Given the description of an element on the screen output the (x, y) to click on. 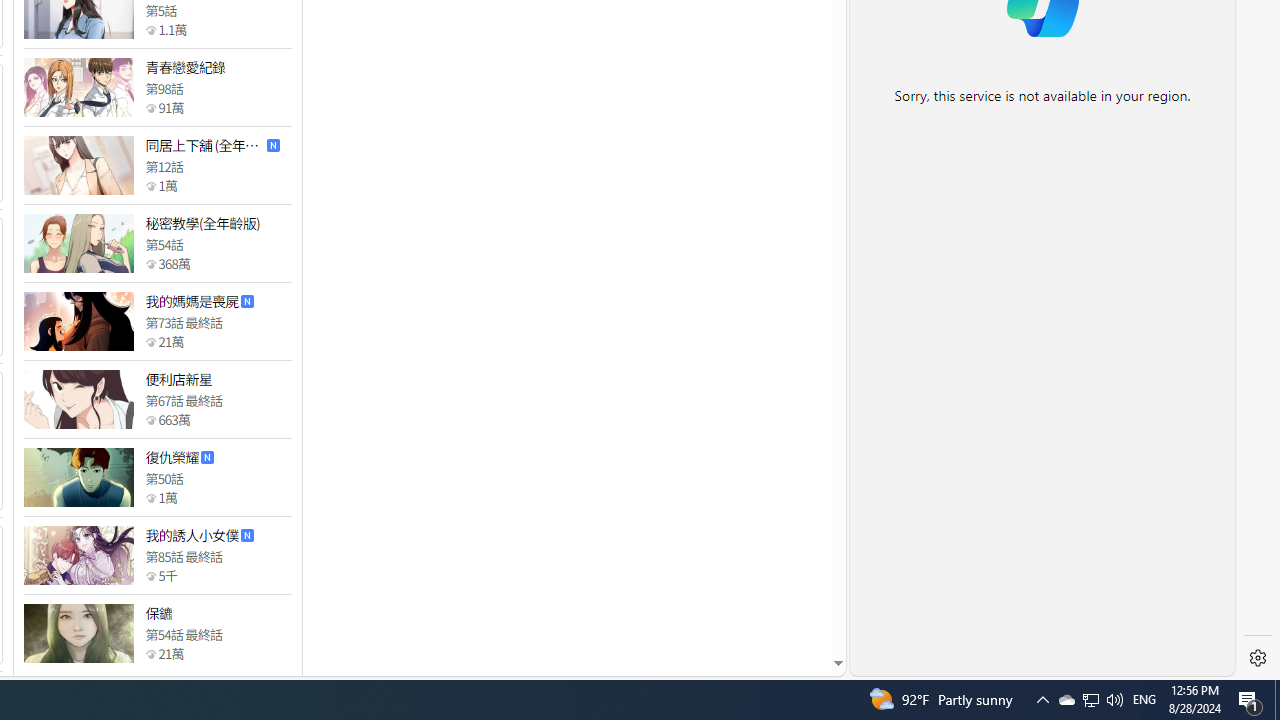
Class: epicon_starpoint (150, 653)
Class: thumb_img (78, 633)
